Given the description of an element on the screen output the (x, y) to click on. 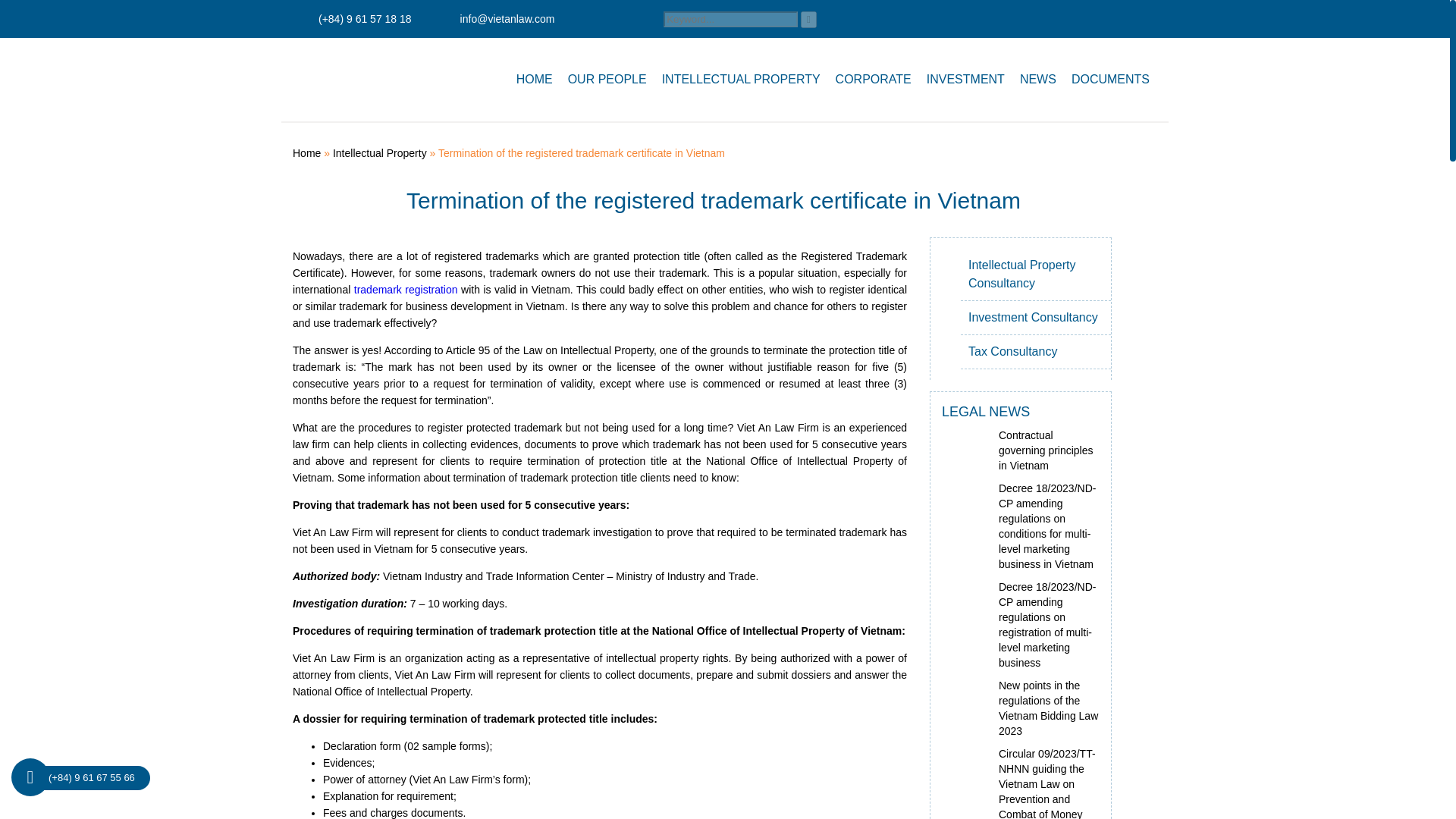
OUR PEOPLE (606, 78)
INVESTMENT (964, 78)
Home (306, 152)
trademark registration (405, 289)
NEWS (1037, 78)
Intellectual Property (379, 152)
Viet An Law (362, 79)
CORPORATE (873, 78)
Viet An Law (362, 79)
HOME (534, 78)
